Given the description of an element on the screen output the (x, y) to click on. 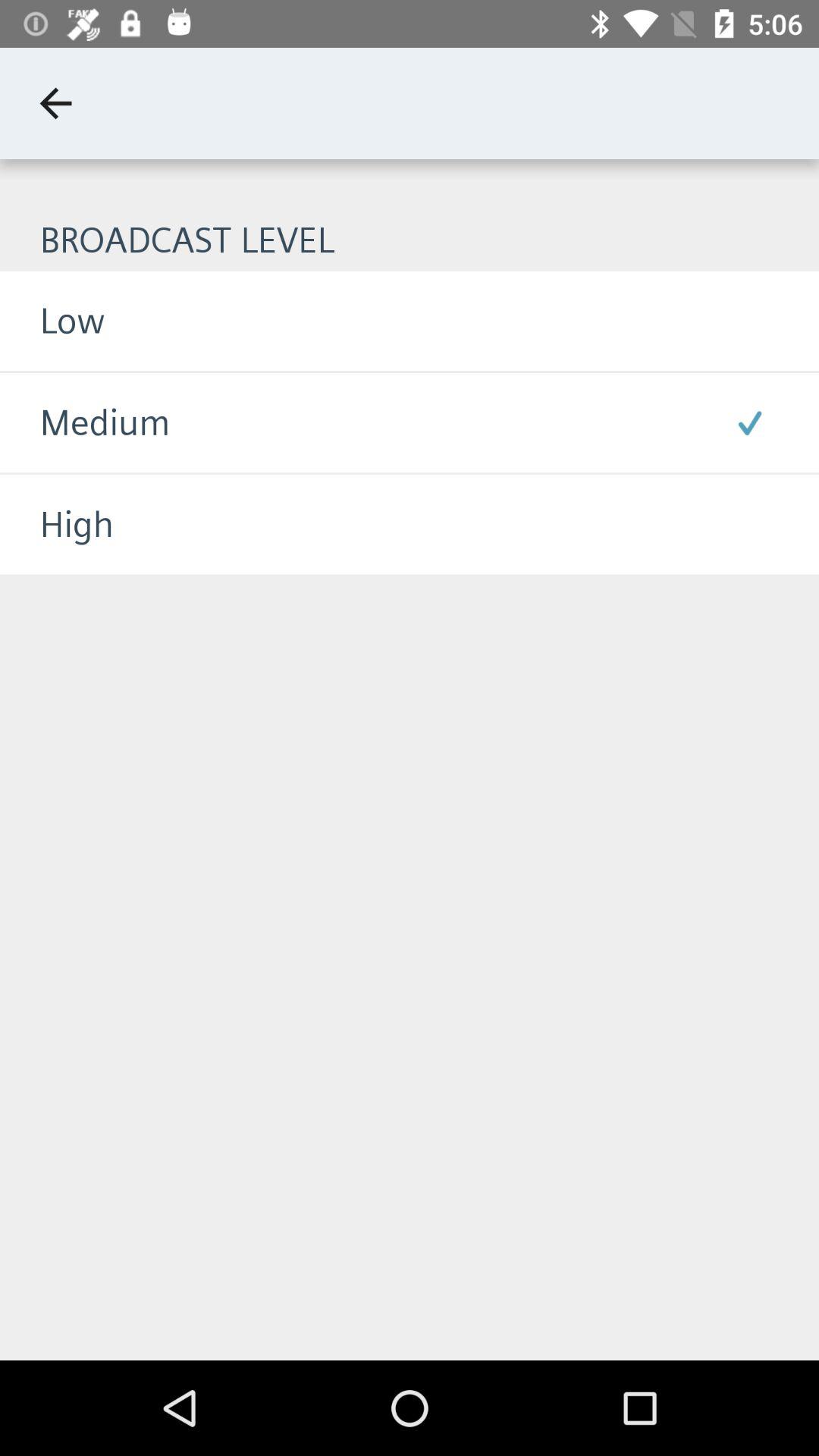
swipe to medium item (85, 422)
